Given the description of an element on the screen output the (x, y) to click on. 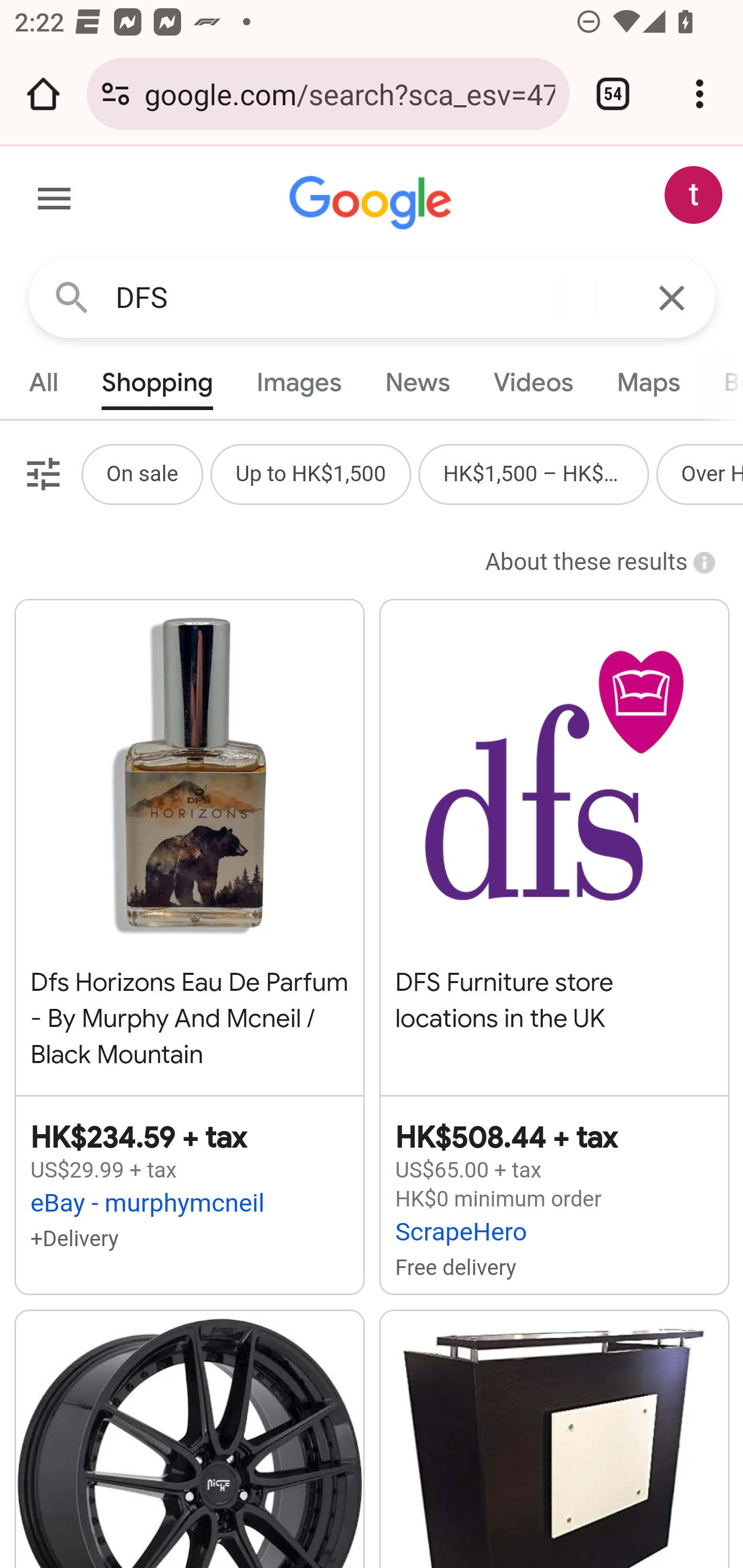
Open the home page (43, 93)
Connection is secure (115, 93)
Switch or close tabs (612, 93)
Customize and control Google Chrome (699, 93)
Main menu (54, 202)
Google (372, 203)
Google Search (71, 296)
Clear Search (672, 296)
DFS (372, 297)
All (43, 382)
Images (299, 382)
News (417, 382)
Videos (533, 382)
Maps (647, 382)
Filters.0 filters applied. (41, 473)
On sale (141, 473)
Up to HK$1,500 (310, 473)
HK$1,500 – HK$6,000 (533, 473)
DFS Furniture store locations in the UK (553, 836)
Niche DFS 22" / GLOSS BLACK (189, 1439)
